Given the description of an element on the screen output the (x, y) to click on. 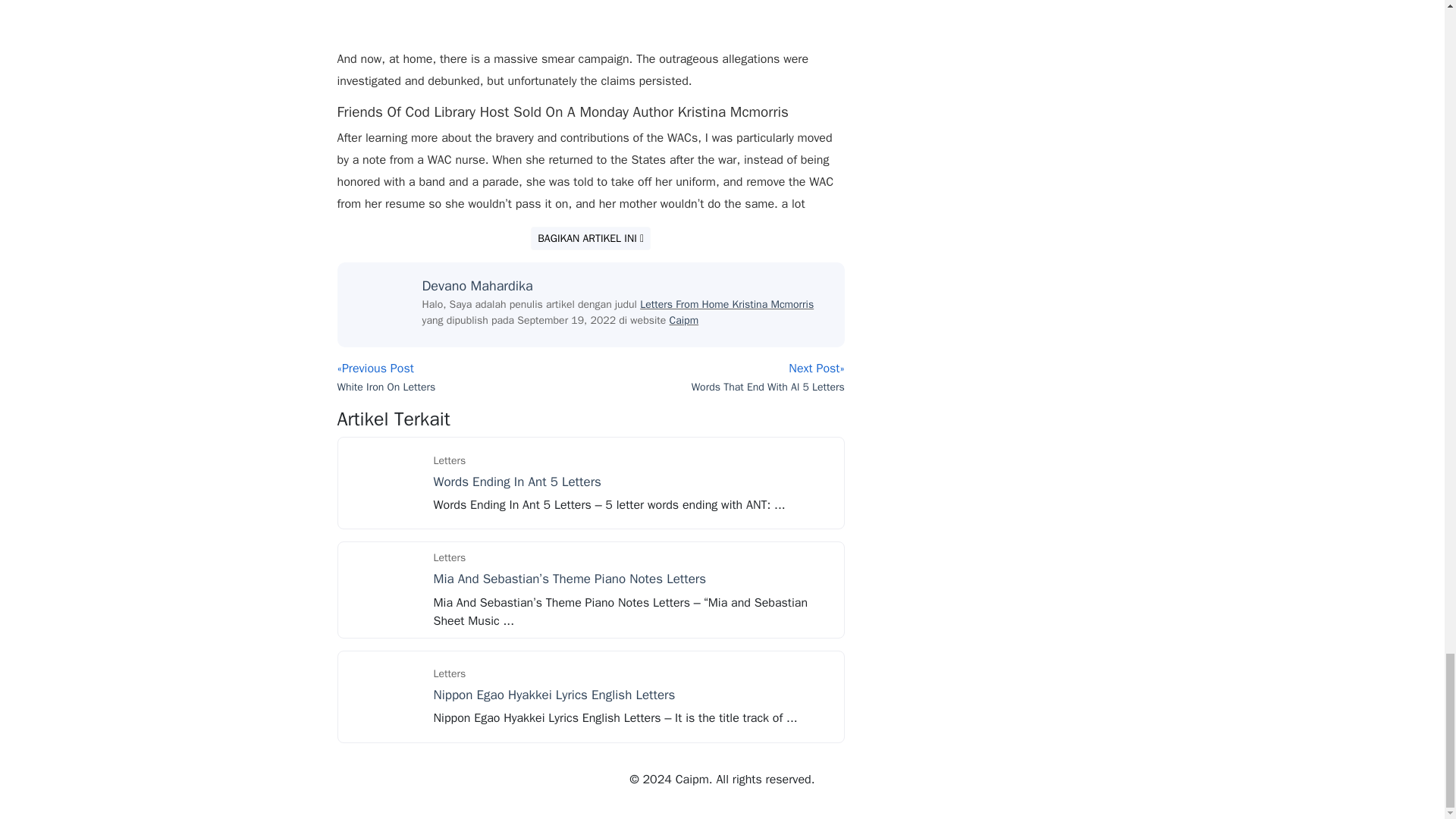
Caipm (683, 319)
Letters From Home Kristina Mcmorris (726, 304)
Words Ending In Ant 5 Letters (517, 481)
Letters (449, 673)
Words Ending In Ant 5 Letters (384, 482)
Letters (449, 557)
Letters (449, 460)
Nippon Egao Hyakkei Lyrics English Letters (554, 694)
Caipm (683, 319)
Devano Mahardika (477, 285)
